Given the description of an element on the screen output the (x, y) to click on. 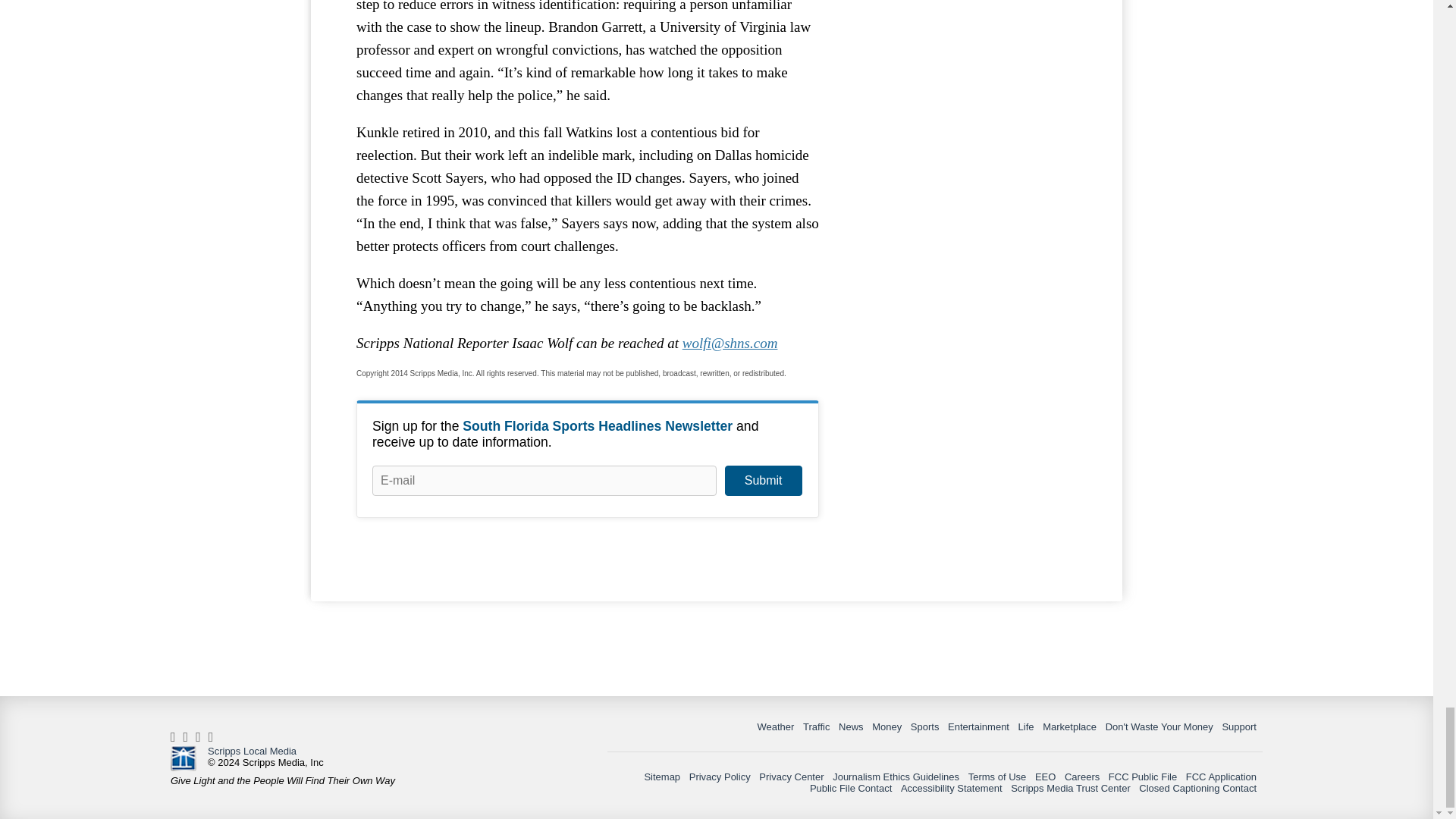
Submit (763, 481)
